Given the description of an element on the screen output the (x, y) to click on. 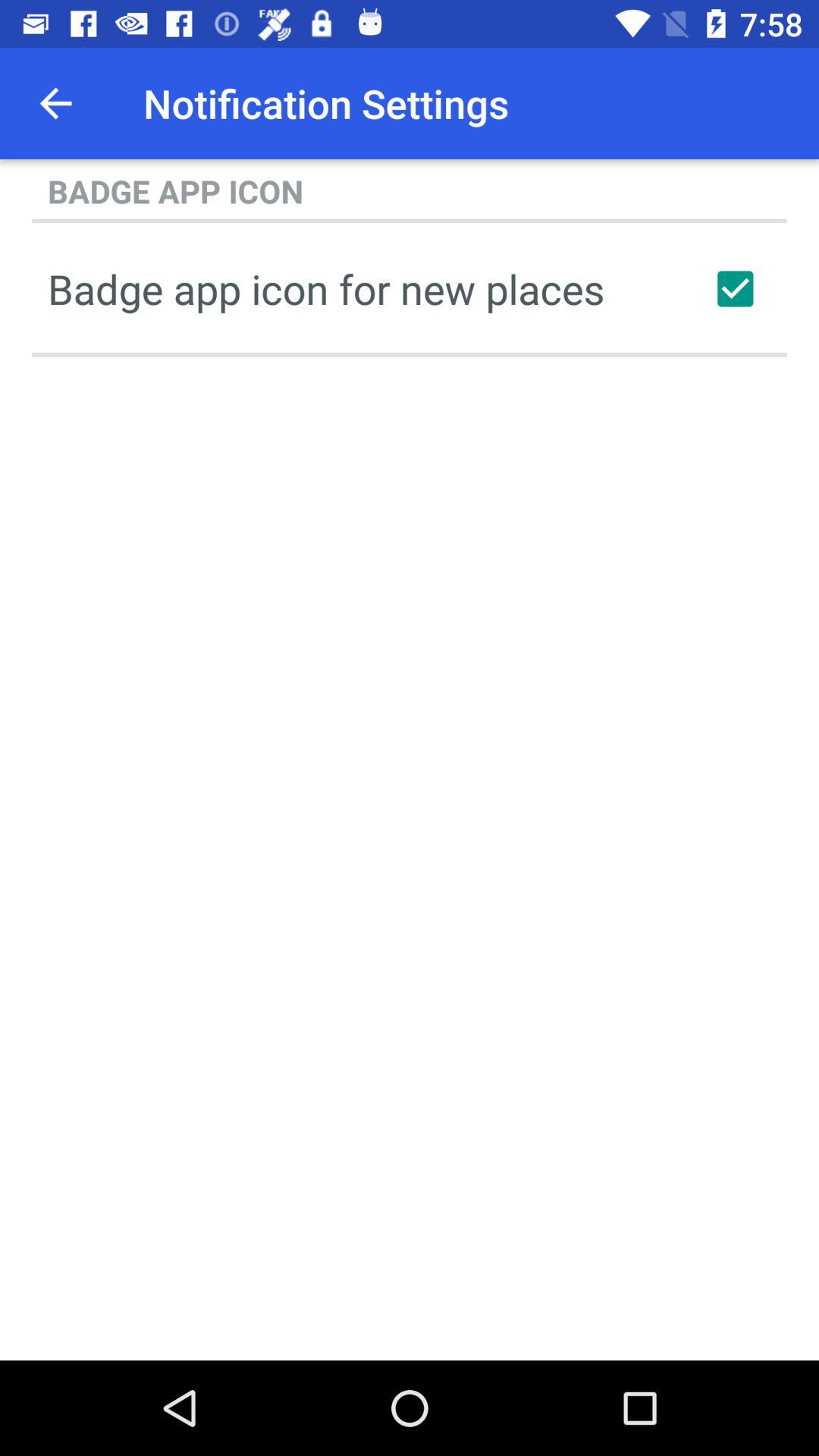
turn on the icon below badge app icon (735, 288)
